Given the description of an element on the screen output the (x, y) to click on. 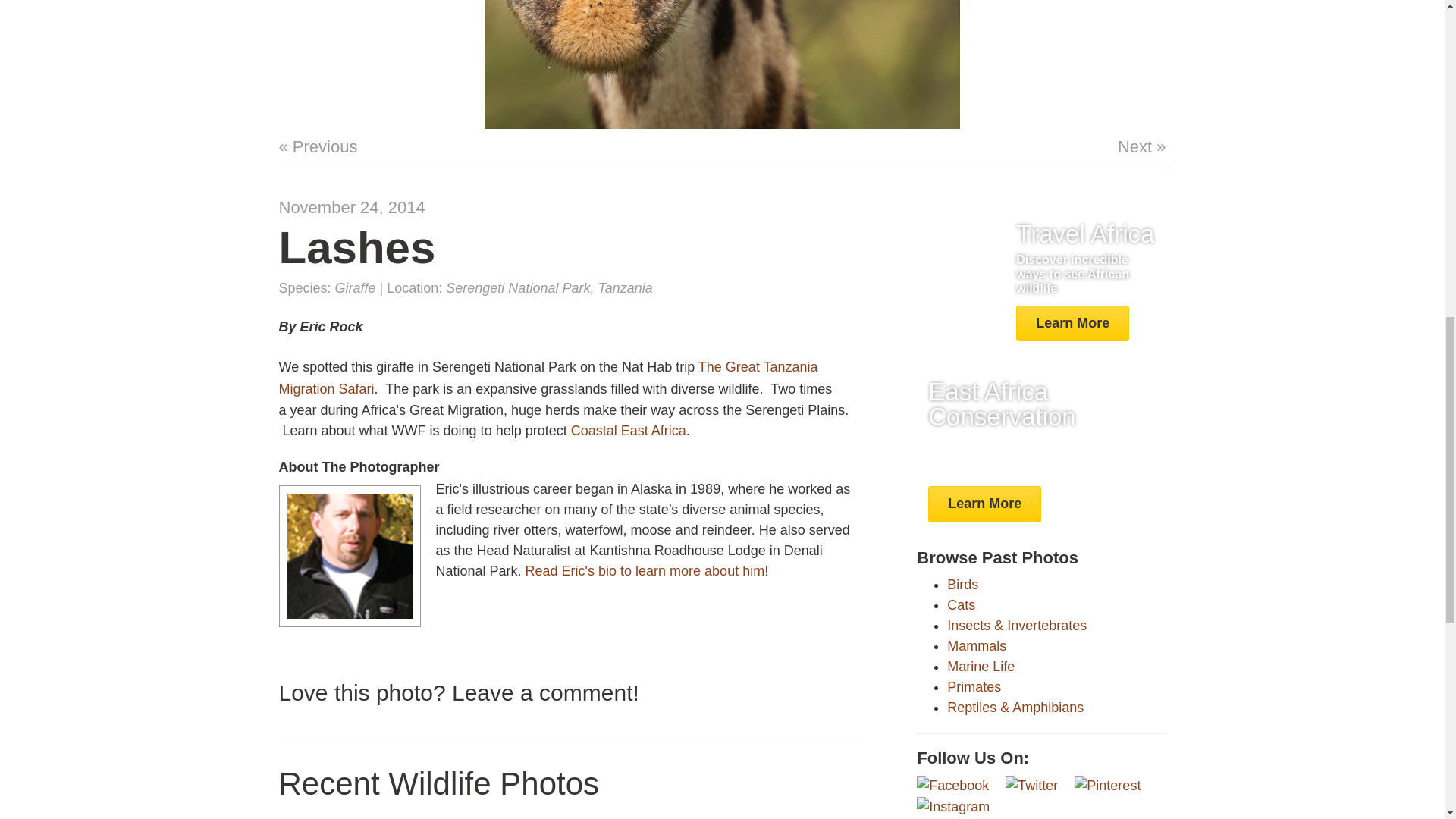
Read Eric's bio to learn more about him! (646, 570)
Birds (569, 817)
Marine Life (370, 817)
Learn More (962, 584)
Cats (980, 666)
Mammals (984, 504)
The Great Tanzania Migration Safari (961, 604)
Primates (976, 645)
Coastal East Africa (769, 817)
Learn More (548, 377)
